Given the description of an element on the screen output the (x, y) to click on. 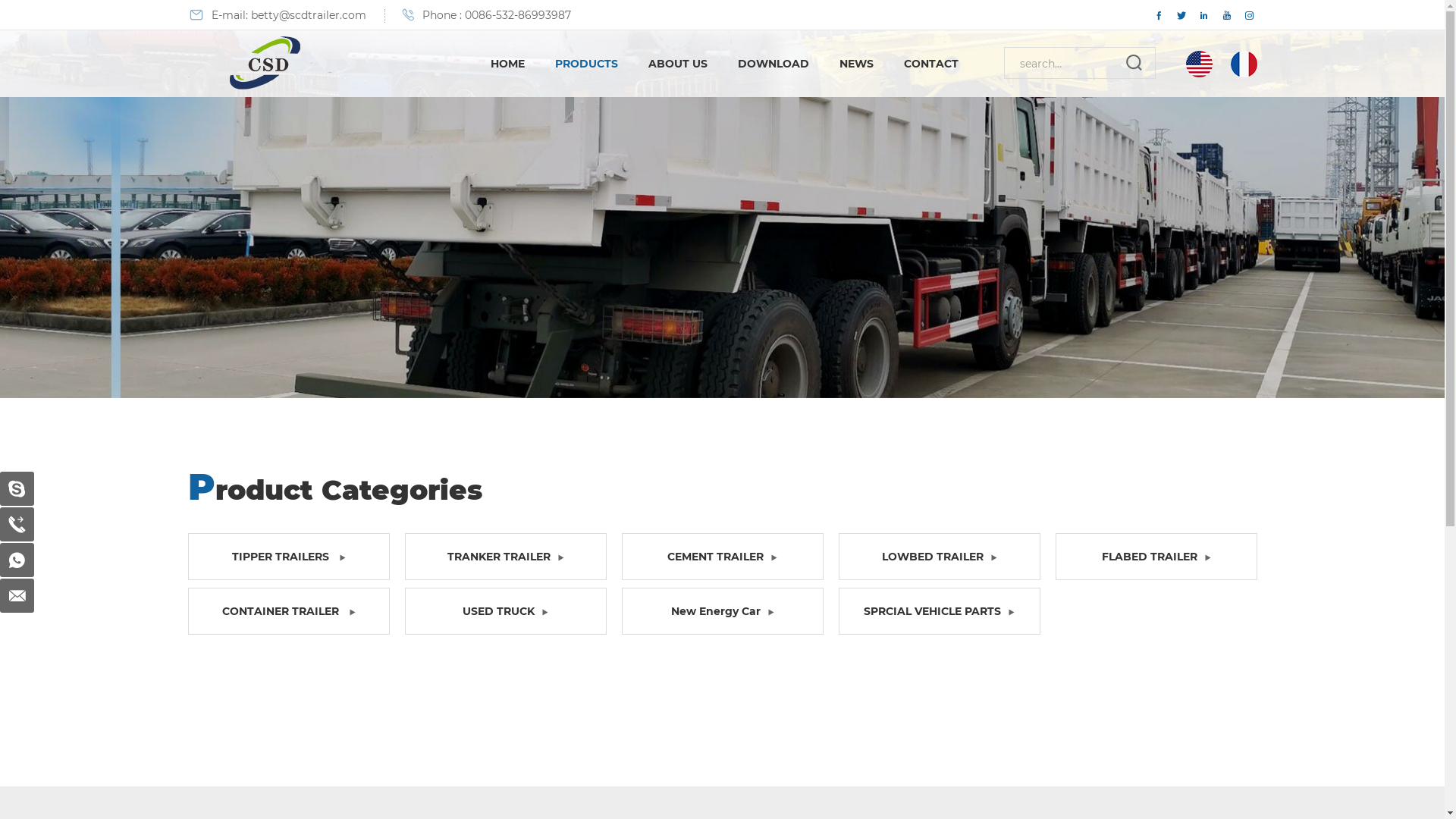
SPRCIAL VEHICLE PARTS Element type: text (939, 610)
PRODUCTS Element type: text (586, 63)
TRANKER TRAILER Element type: text (505, 556)
HOME Element type: text (506, 63)
TIPPER TRAILERS Element type: text (288, 556)
USED TRUCK Element type: text (505, 610)
NEWS Element type: text (855, 63)
DOWNLOAD Element type: text (772, 63)
FLABED TRAILER Element type: text (1156, 556)
betty@scdtrailer.com Element type: text (307, 14)
0086-532-86993987 Element type: text (517, 14)
CONTACT Element type: text (930, 63)
CEMENT TRAILER Element type: text (722, 556)
ABOUT US Element type: text (676, 63)
CONTAINER TRAILER Element type: text (288, 610)
New Energy Car Element type: text (722, 610)
LOWBED TRAILER Element type: text (939, 556)
